Given the description of an element on the screen output the (x, y) to click on. 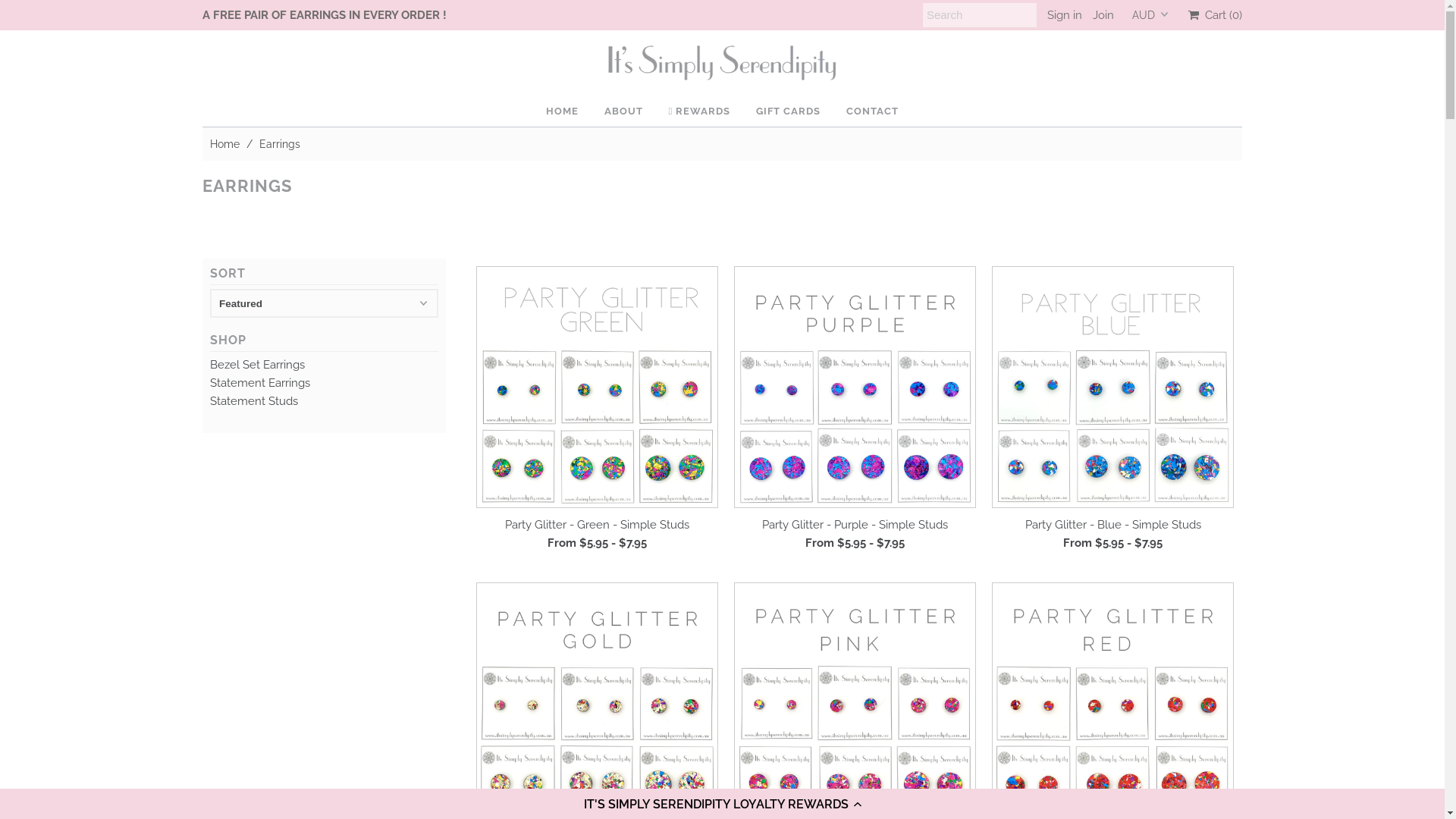
Home Element type: text (226, 144)
ABOUT Element type: text (623, 111)
HOME Element type: text (561, 111)
Statement Studs Element type: text (254, 400)
Sign in Element type: text (1064, 14)
Join Element type: text (1102, 14)
GIFT CARDS Element type: text (787, 111)
Bezel Set Earrings Element type: text (257, 364)
Statement Earrings Element type: text (260, 382)
Party Glitter - Green - Simple Studs Element type: text (597, 524)
  Cart (0) Element type: text (1215, 14)
CONTACT Element type: text (872, 111)
Party Glitter - Blue - Simple Studs Element type: text (1112, 524)
Party Glitter - Purple - Simple Studs Element type: text (854, 524)
